Given the description of an element on the screen output the (x, y) to click on. 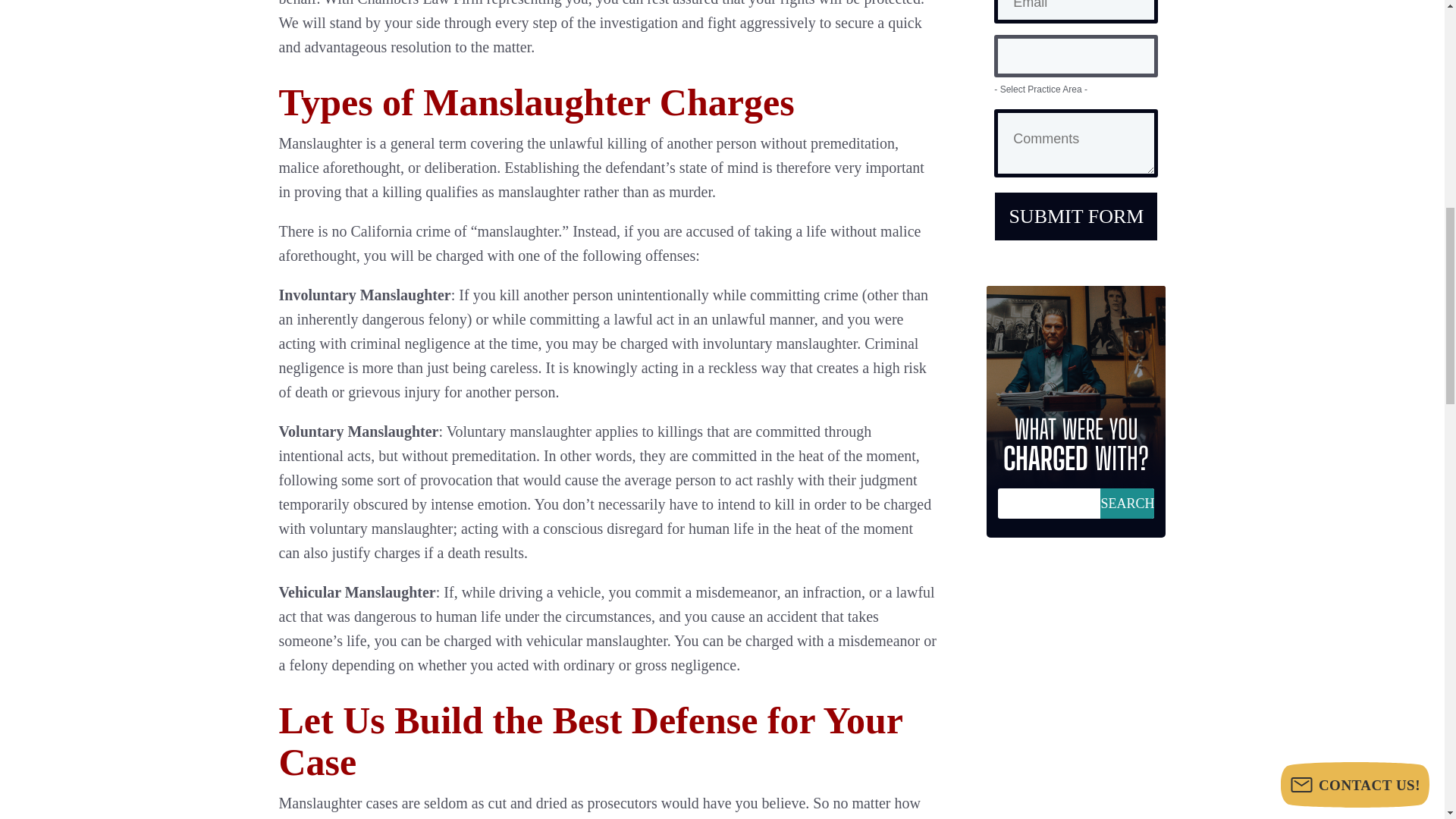
Search (1127, 503)
